Given the description of an element on the screen output the (x, y) to click on. 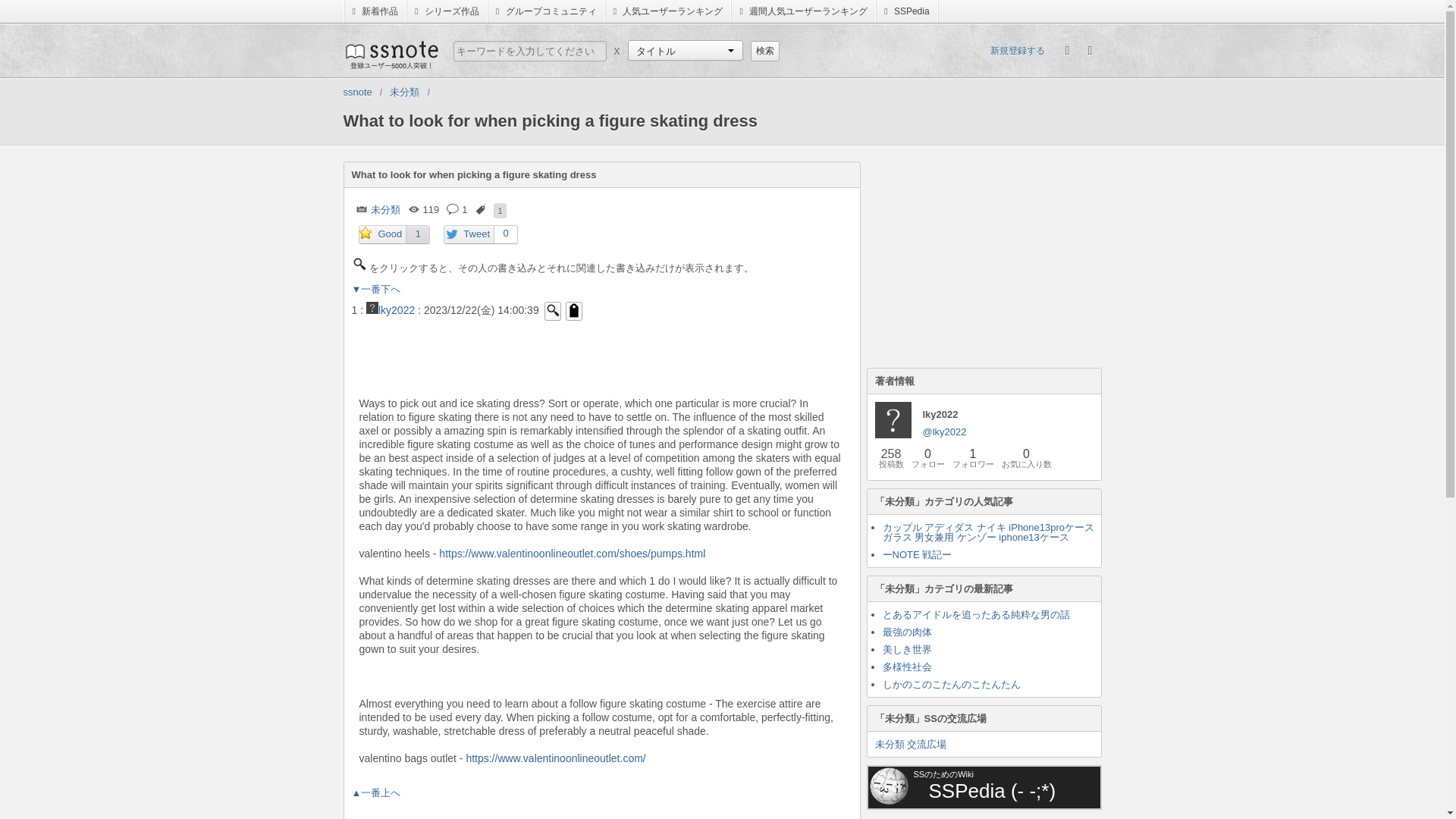
ssnote (390, 54)
0 (505, 233)
Tweet (468, 235)
lky2022 (390, 309)
Advertisement (979, 256)
SSPedia (906, 11)
1 (417, 233)
ssnote (356, 91)
